Given the description of an element on the screen output the (x, y) to click on. 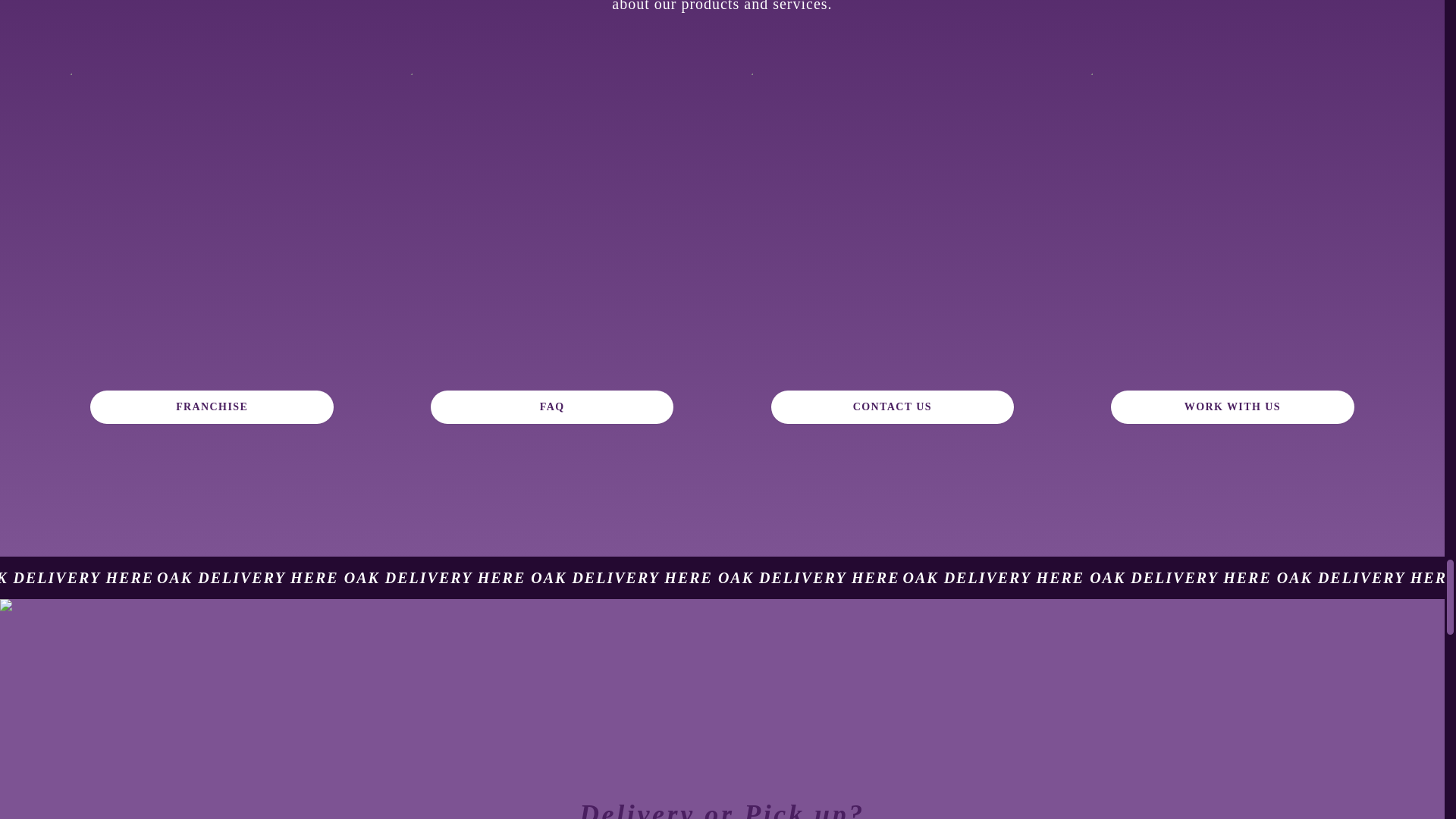
FRANCHISE (211, 407)
WORK WITH US (1232, 407)
CONTACT US (892, 407)
FAQ (551, 407)
